Given the description of an element on the screen output the (x, y) to click on. 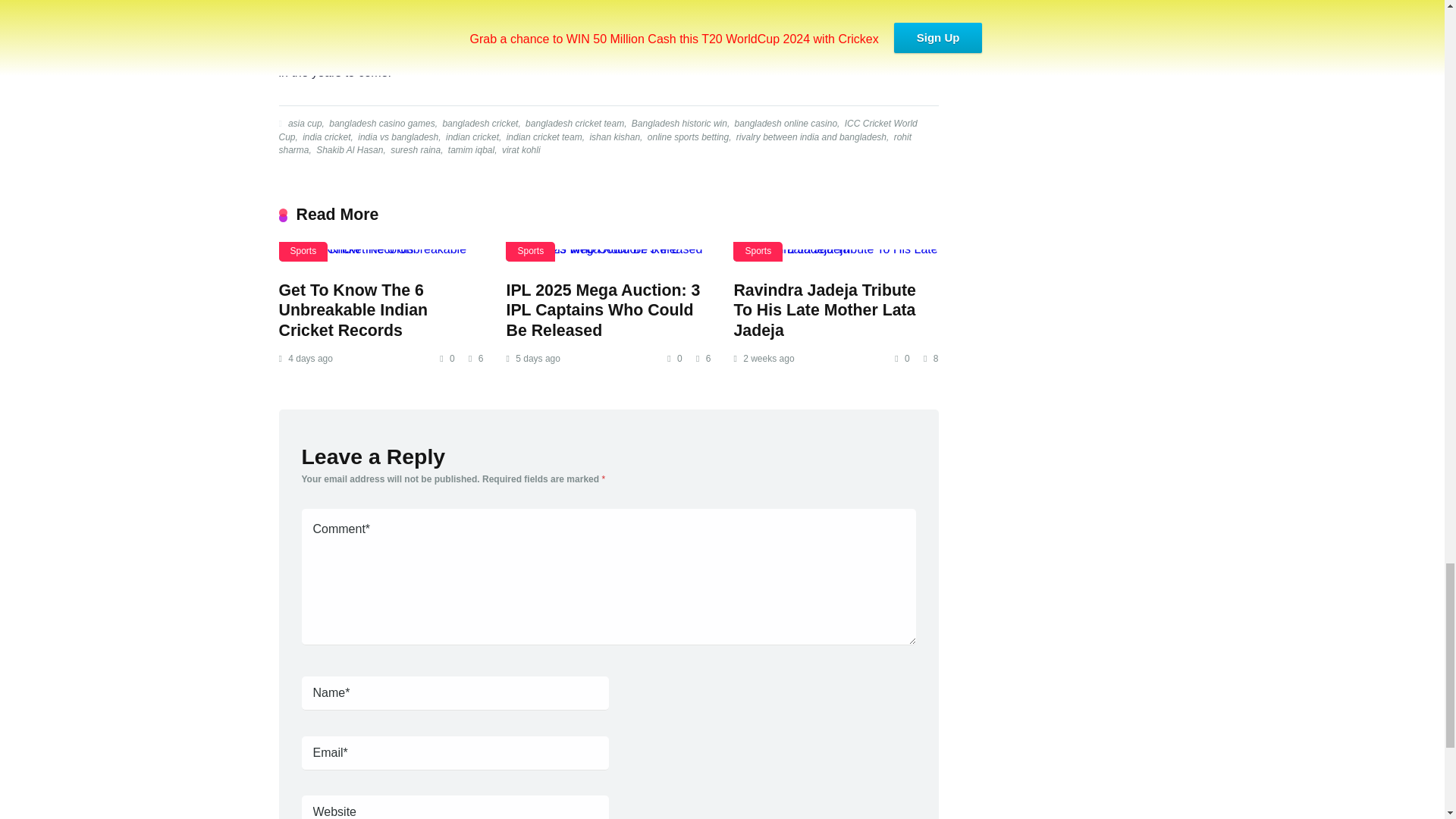
Get To Know The 6 Unbreakable Indian Cricket Records (381, 255)
asia cup (303, 122)
Get To Know The 6 Unbreakable Indian Cricket Records (353, 310)
IPL 2025 Mega Auction: 3 IPL Captains Who Could Be Released (607, 255)
Ravindra Jadeja Tribute To His Late Mother Lata Jadeja (824, 310)
Ravindra Jadeja Tribute To His Late Mother Lata Jadeja (835, 255)
IPL 2025 Mega Auction: 3 IPL Captains Who Could Be Released (602, 310)
